Given the description of an element on the screen output the (x, y) to click on. 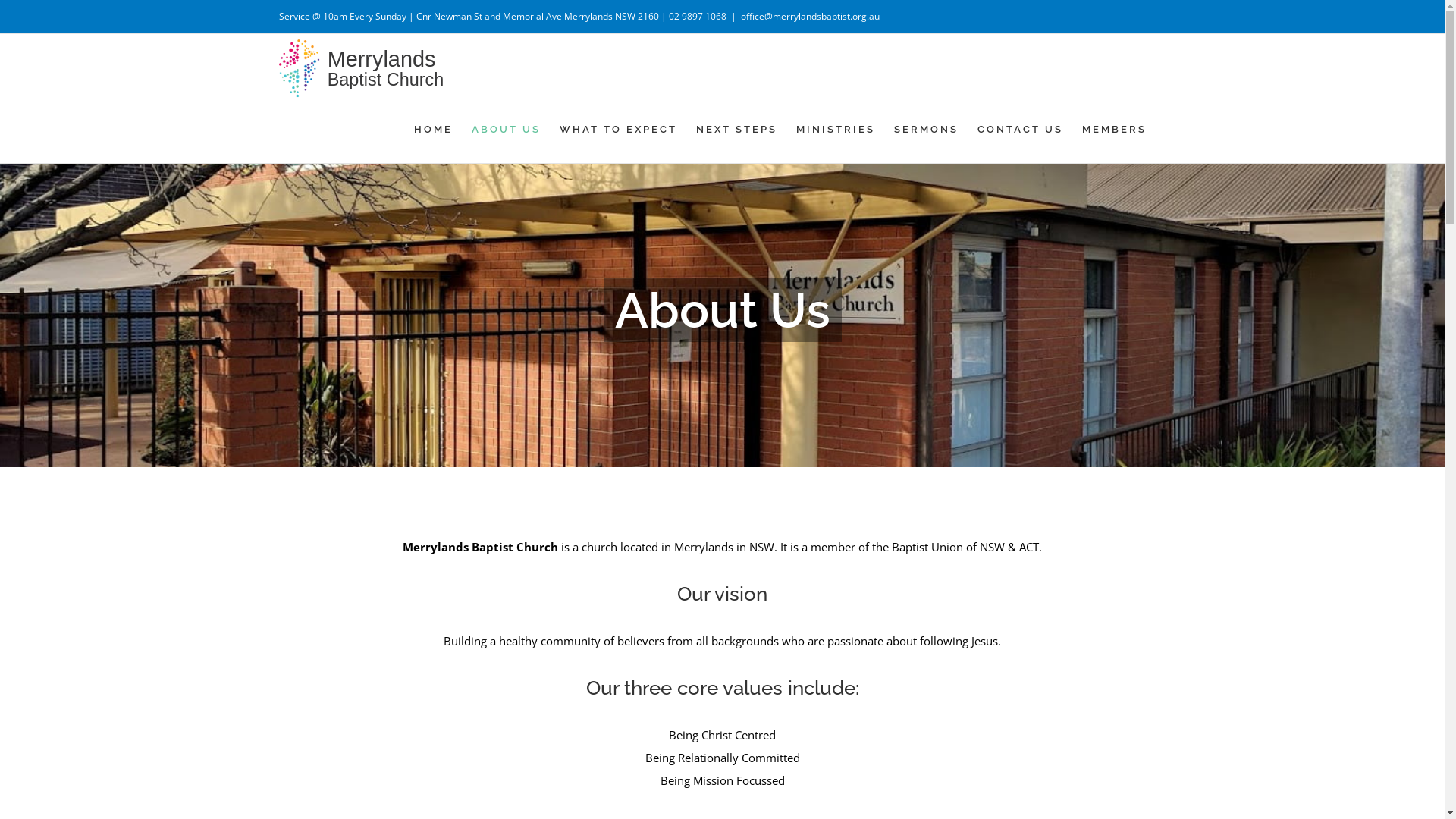
CONTACT US Element type: text (1020, 128)
MEMBERS Element type: text (1114, 128)
SERMONS Element type: text (926, 128)
office@merrylandsbaptist.org.au Element type: text (809, 15)
ABOUT US Element type: text (505, 128)
NEXT STEPS Element type: text (736, 128)
MINISTRIES Element type: text (835, 128)
WHAT TO EXPECT Element type: text (618, 128)
HOME Element type: text (433, 128)
